Given the description of an element on the screen output the (x, y) to click on. 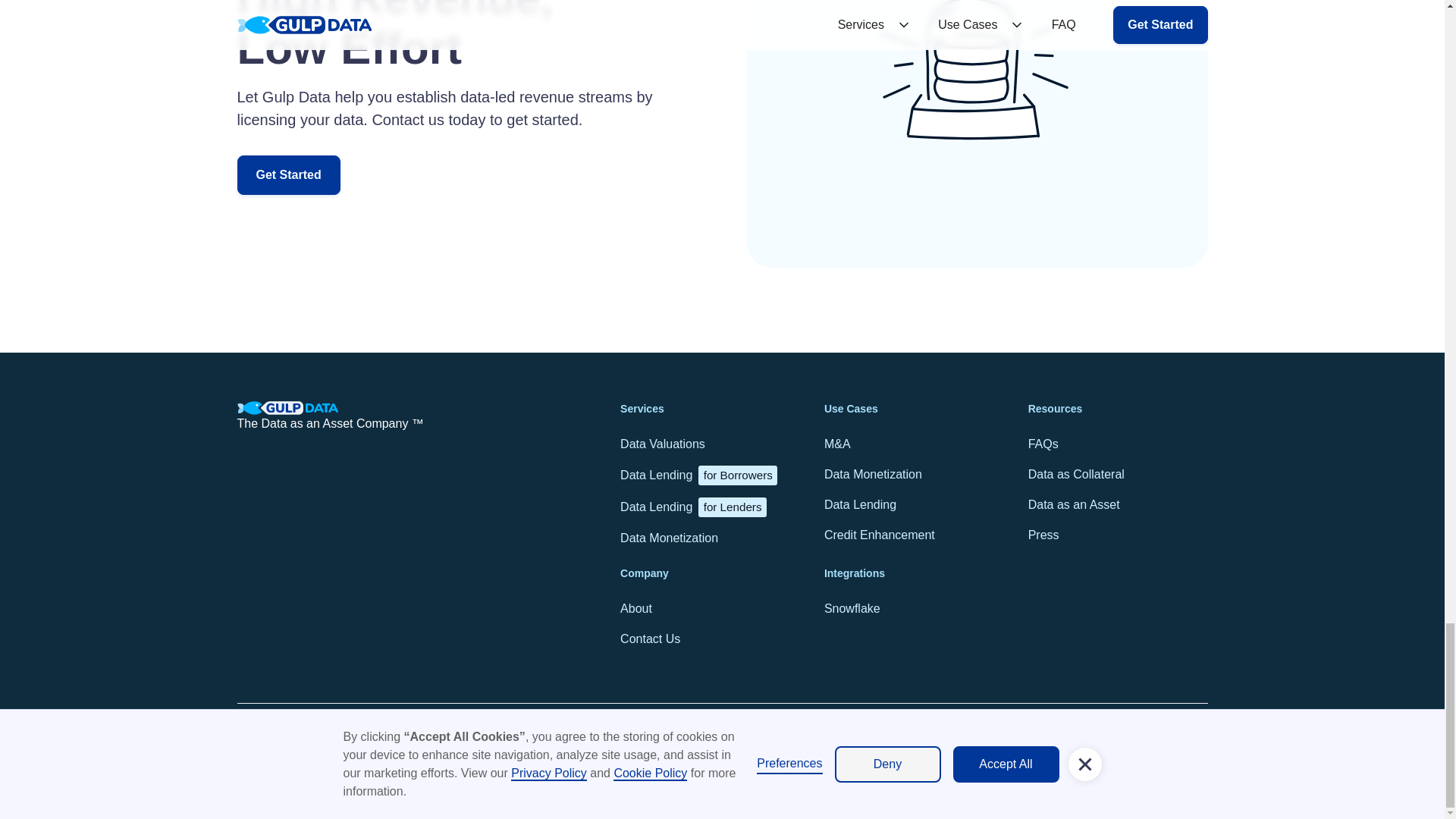
Data Lending (693, 507)
Privacy (860, 504)
Snowflake (465, 736)
Data as Collateral (852, 608)
FAQs (1075, 474)
Get Started (1042, 444)
Press (287, 174)
About (1043, 535)
Data as an Asset (636, 608)
Data Monetization (1073, 504)
Cookies (668, 538)
Data Valuations (698, 475)
Contact Us (513, 736)
